Given the description of an element on the screen output the (x, y) to click on. 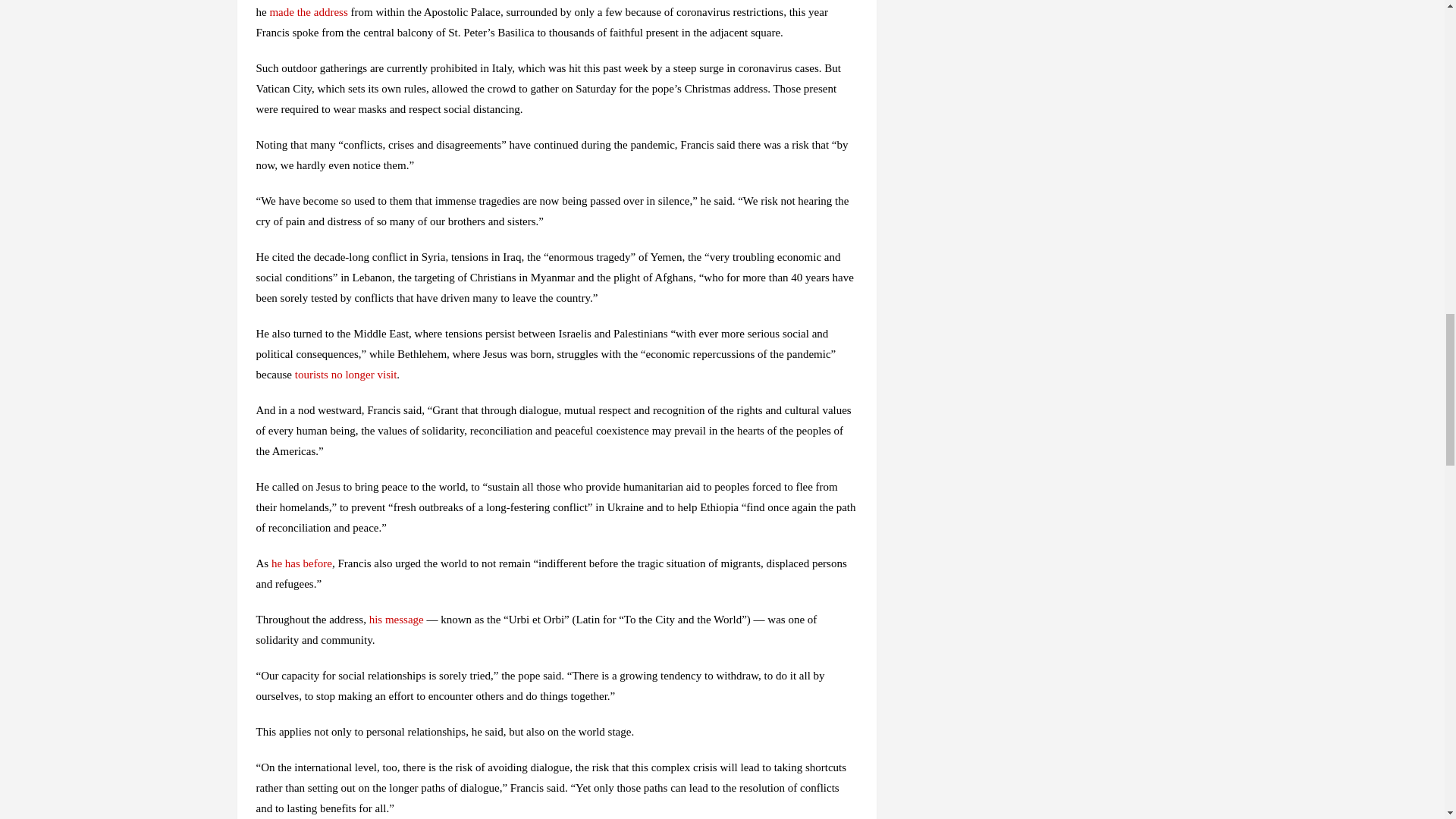
made the address (308, 11)
tourists no longer visit (346, 374)
he has before (300, 563)
his message (396, 619)
